Given the description of an element on the screen output the (x, y) to click on. 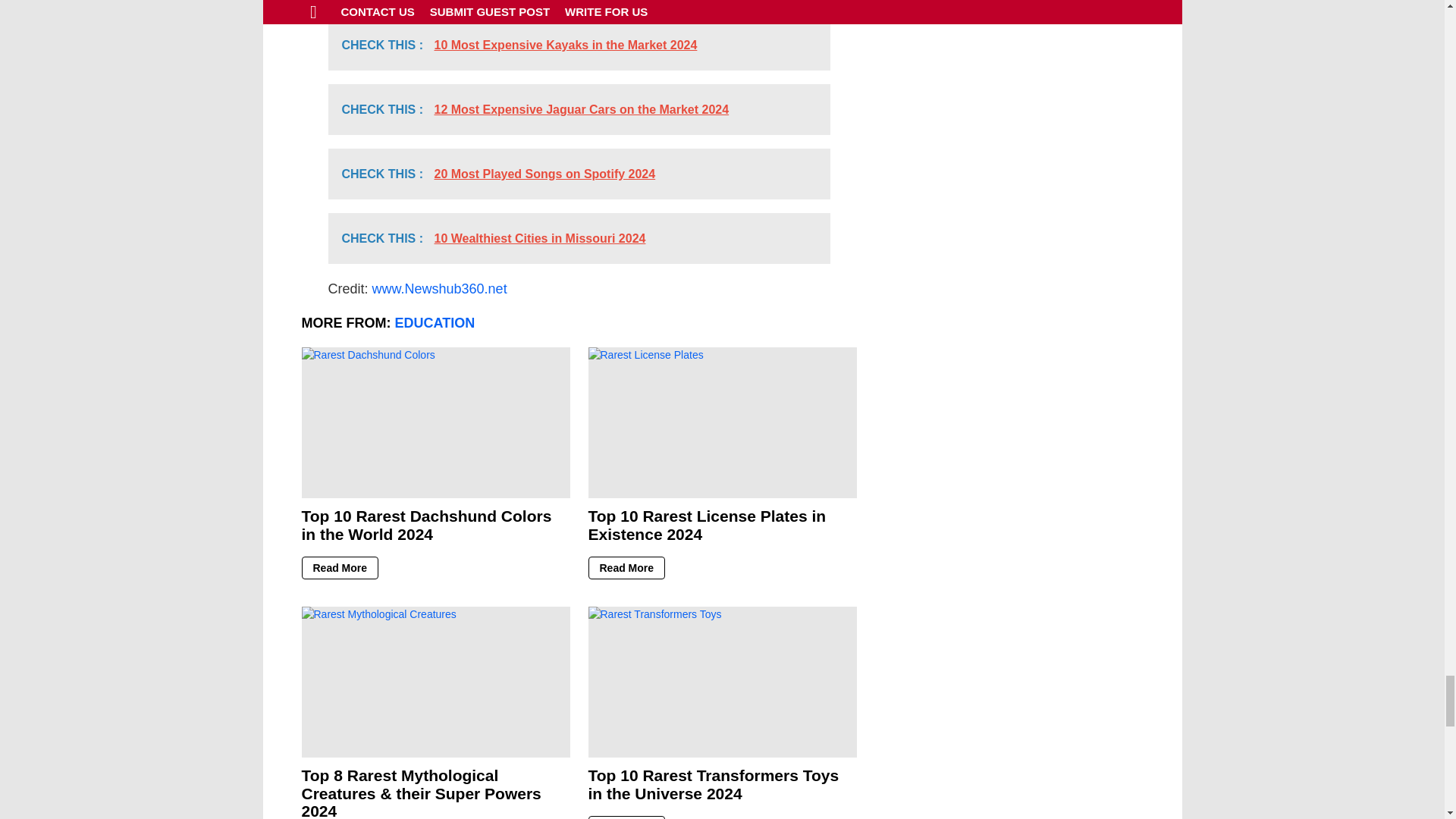
www.Newshub360.net (439, 288)
CHECK THIS :   10 Most Expensive Kayaks in the Market 2024 (578, 44)
CHECK THIS :   20 Most Played Songs on Spotify 2024 (578, 173)
Top 10 Rarest Transformers Toys in the Universe 2024 (722, 681)
CHECK THIS :   10 Wealthiest Cities in Missouri 2024 (578, 237)
Top 10 Rarest Dachshund Colors in the World 2024 (435, 422)
Top 10 Rarest License Plates in Existence 2024 (722, 422)
CHECK THIS :   20 Most Played Songs on Spotify 2024 (578, 2)
